Given the description of an element on the screen output the (x, y) to click on. 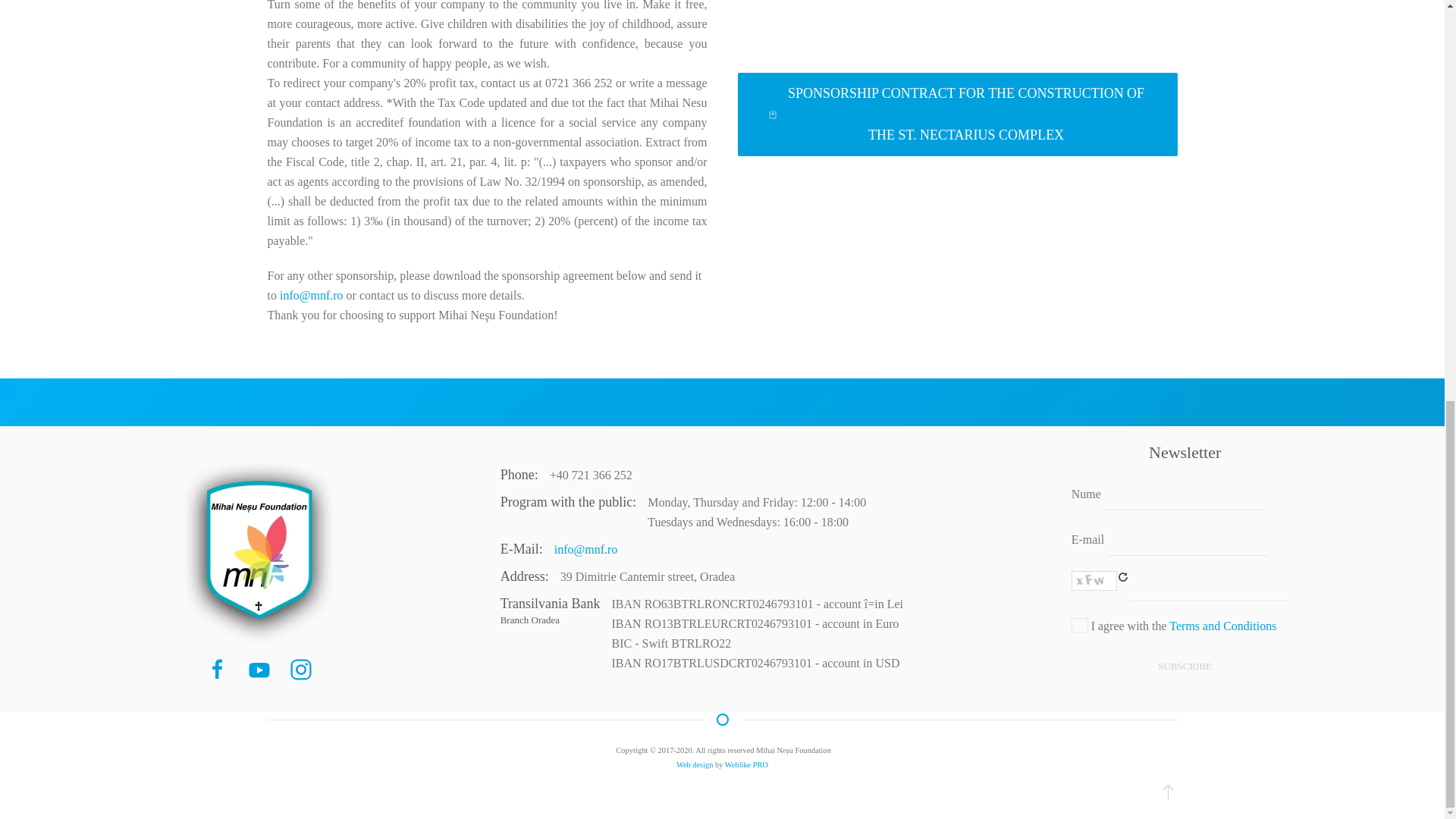
The captcha is invalid, please try again (1209, 585)
Terms and Conditions (1079, 625)
The captcha is invalid, please try again (1093, 580)
Nume (1184, 494)
on (1079, 625)
E-mail (1187, 540)
Subscribe (1184, 666)
